Given the description of an element on the screen output the (x, y) to click on. 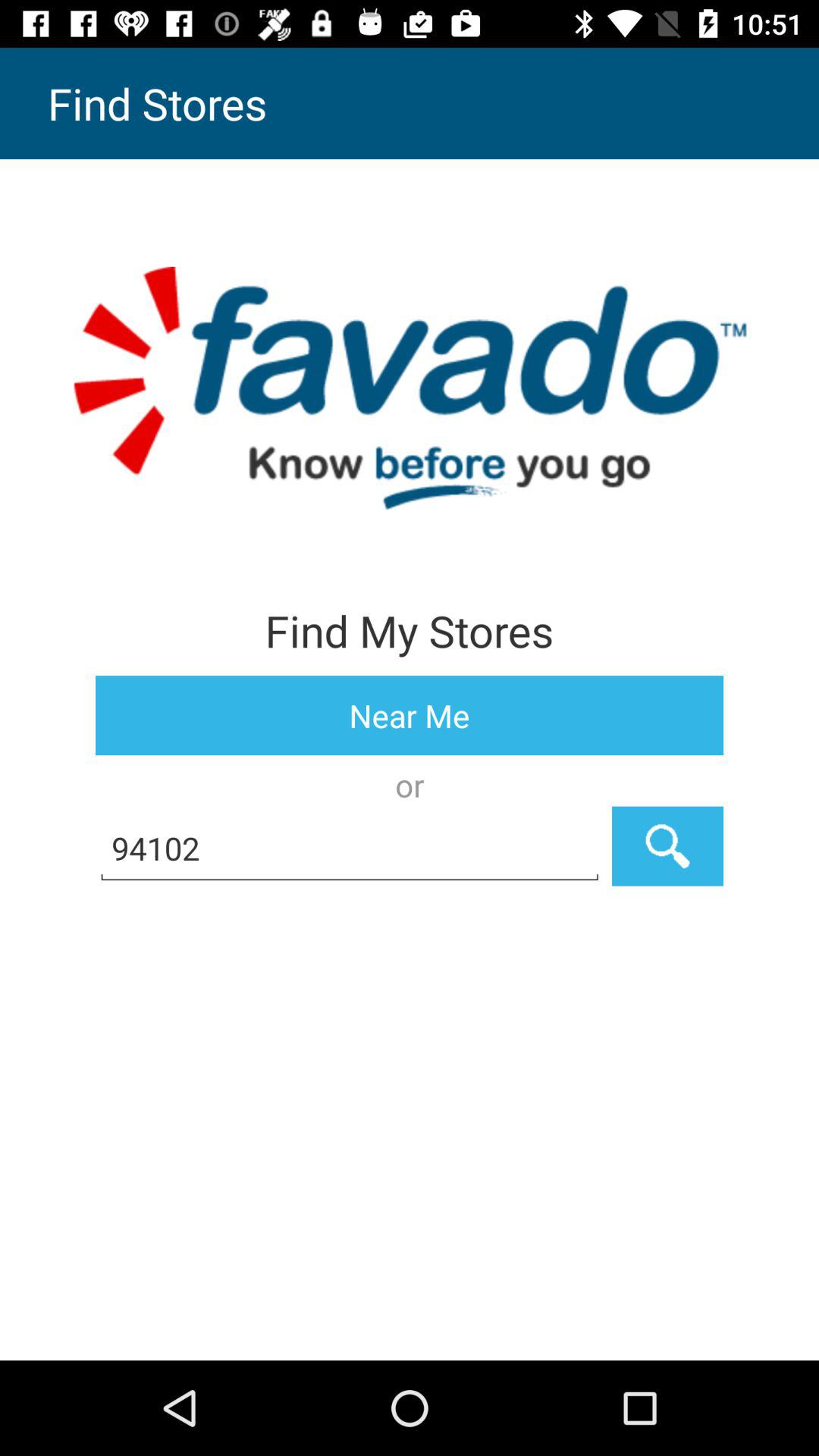
turn off the icon next to the 94102 (667, 846)
